Given the description of an element on the screen output the (x, y) to click on. 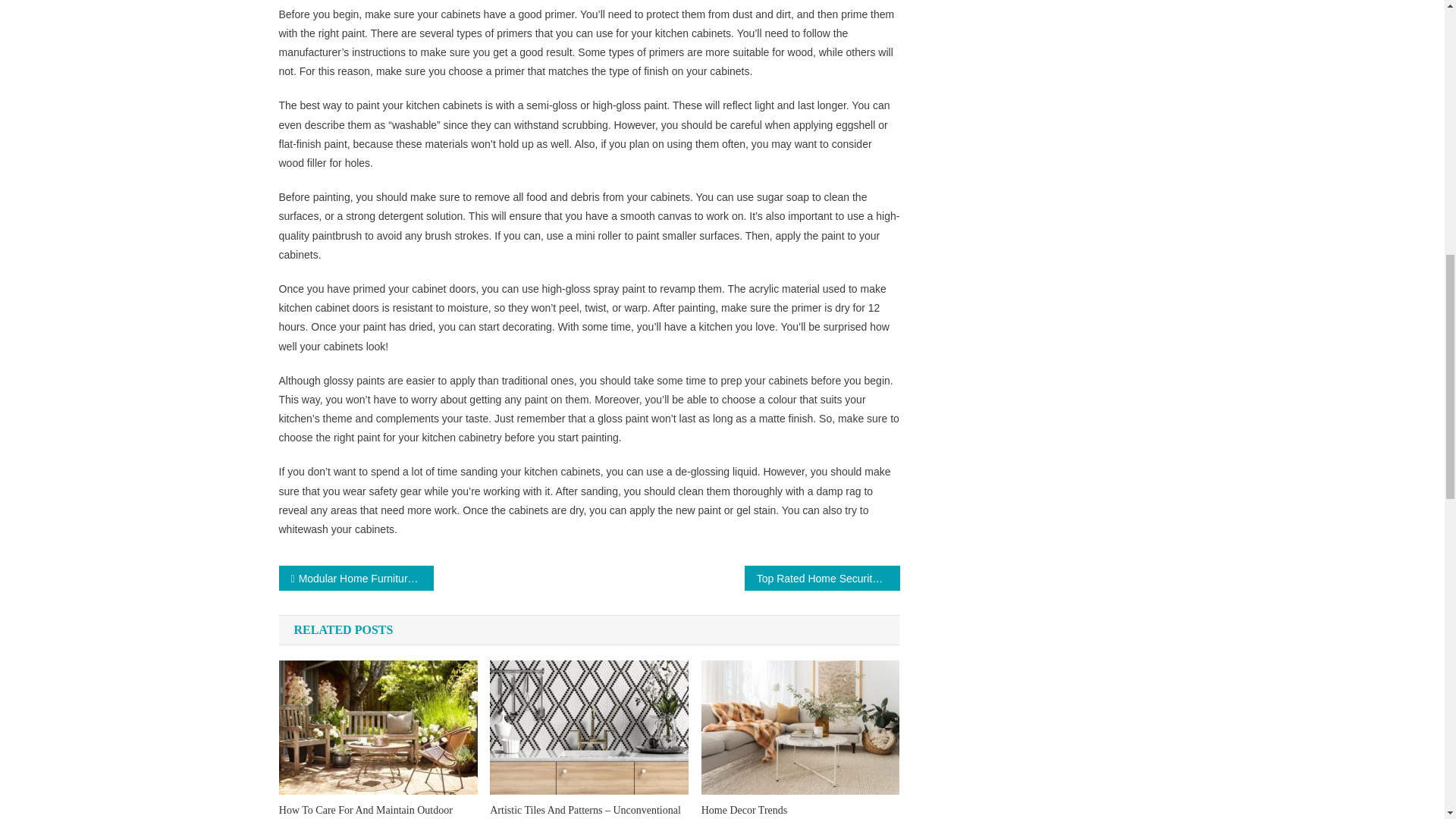
Home Decor Trends (800, 810)
How To Care For And Maintain Outdoor Furniture (378, 810)
Top Rated Home Security Cameras (821, 577)
